Given the description of an element on the screen output the (x, y) to click on. 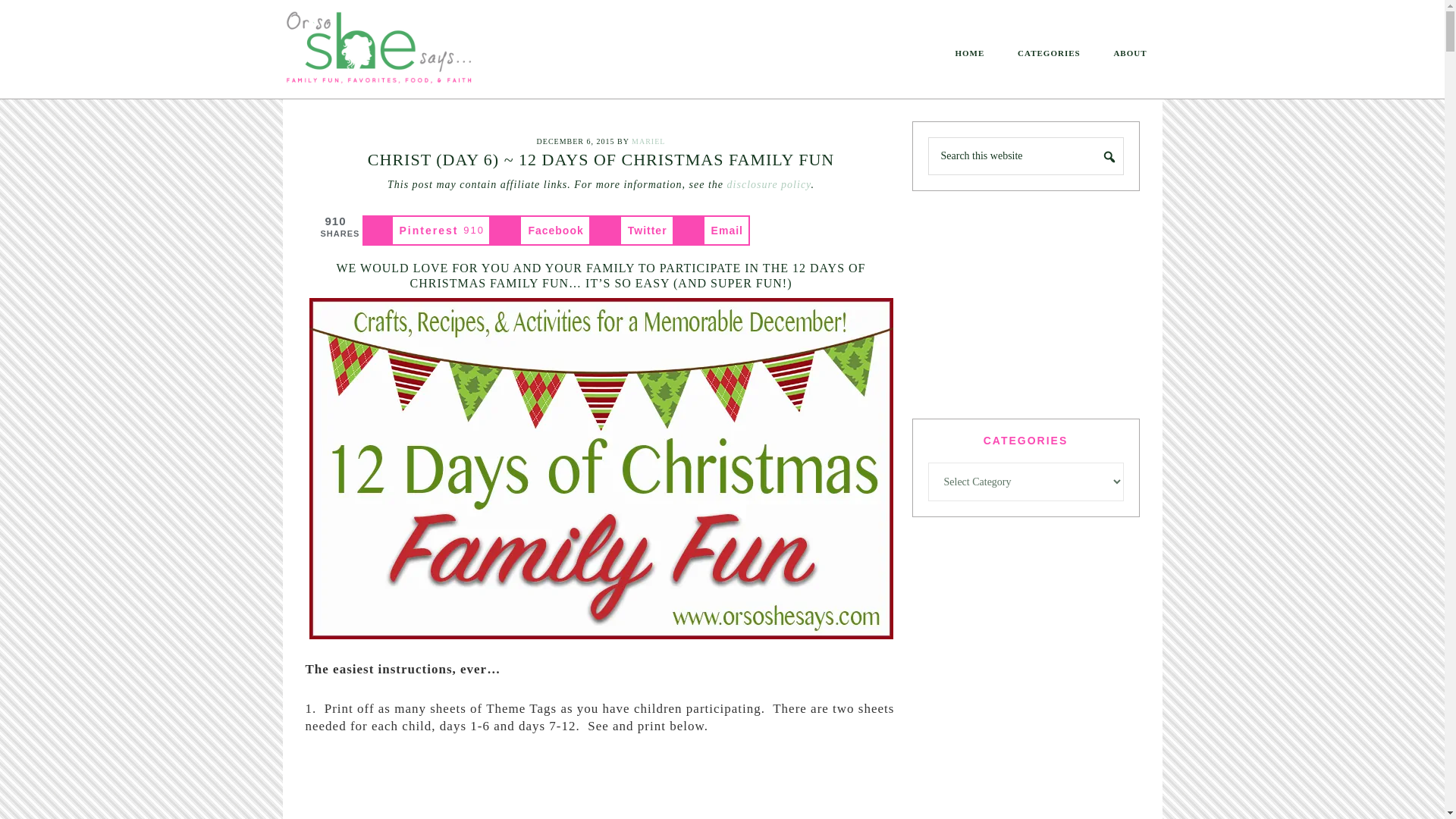
Email (711, 230)
Share on X (632, 230)
disclosure policy (768, 184)
Twitter (632, 230)
OR SO SHE SAYS... (403, 52)
Save to Pinterest (427, 230)
MARIEL (427, 230)
CATEGORIES (648, 141)
Share on Facebook (1049, 52)
